Given the description of an element on the screen output the (x, y) to click on. 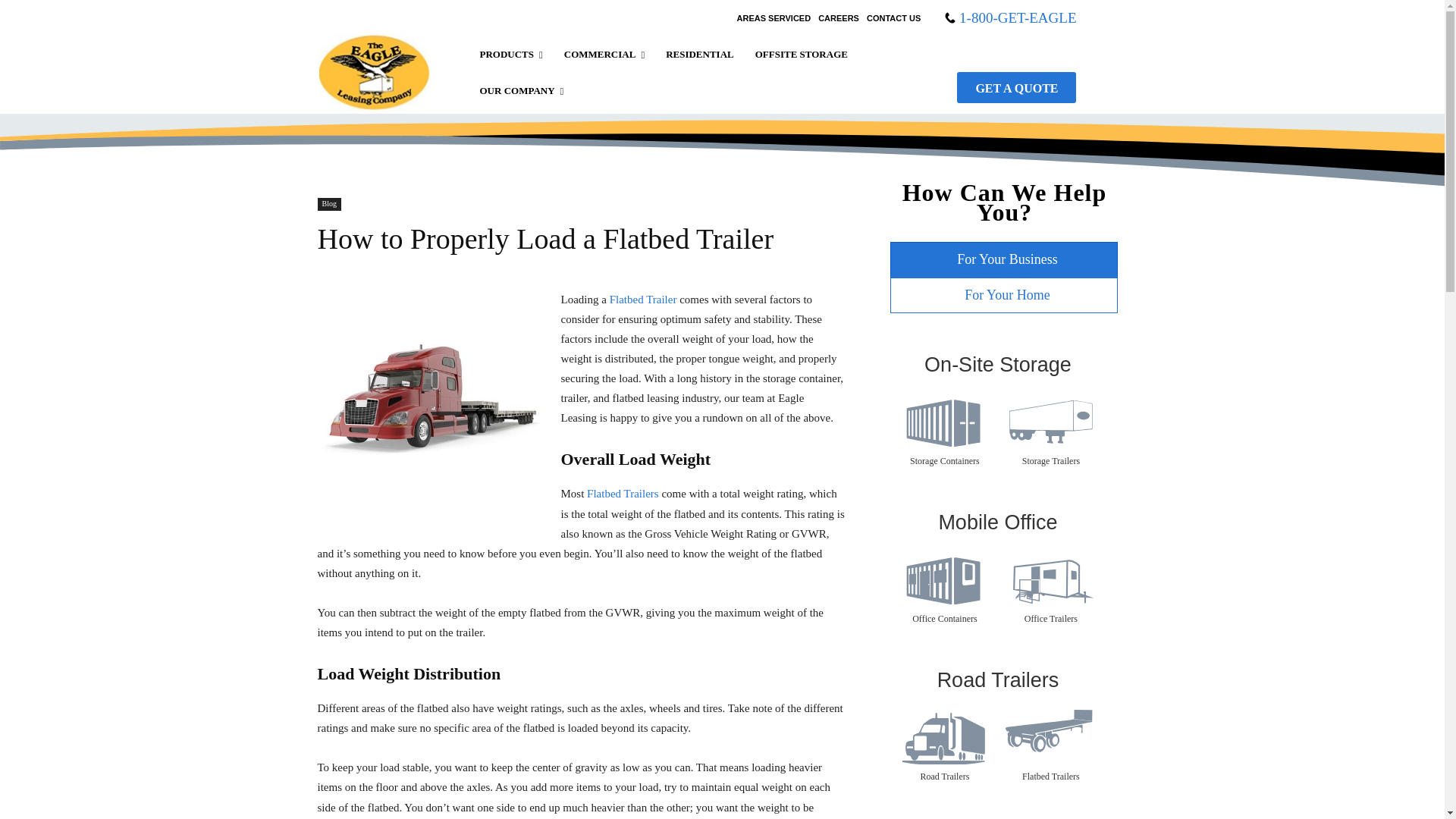
Skip to Content (722, 8)
Skip to Content (722, 8)
